Given the description of an element on the screen output the (x, y) to click on. 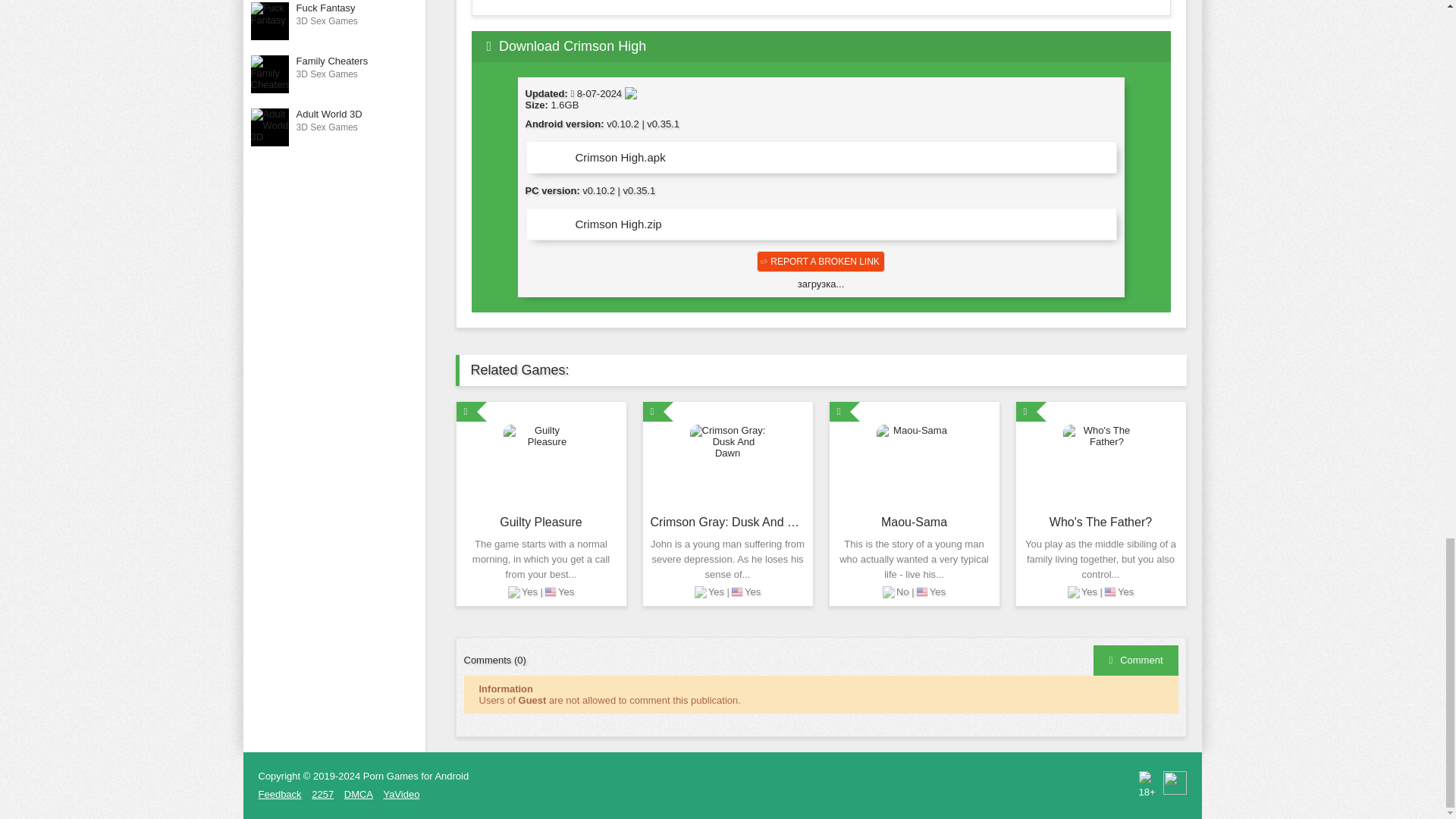
LiveInternet (1174, 782)
